Given the description of an element on the screen output the (x, y) to click on. 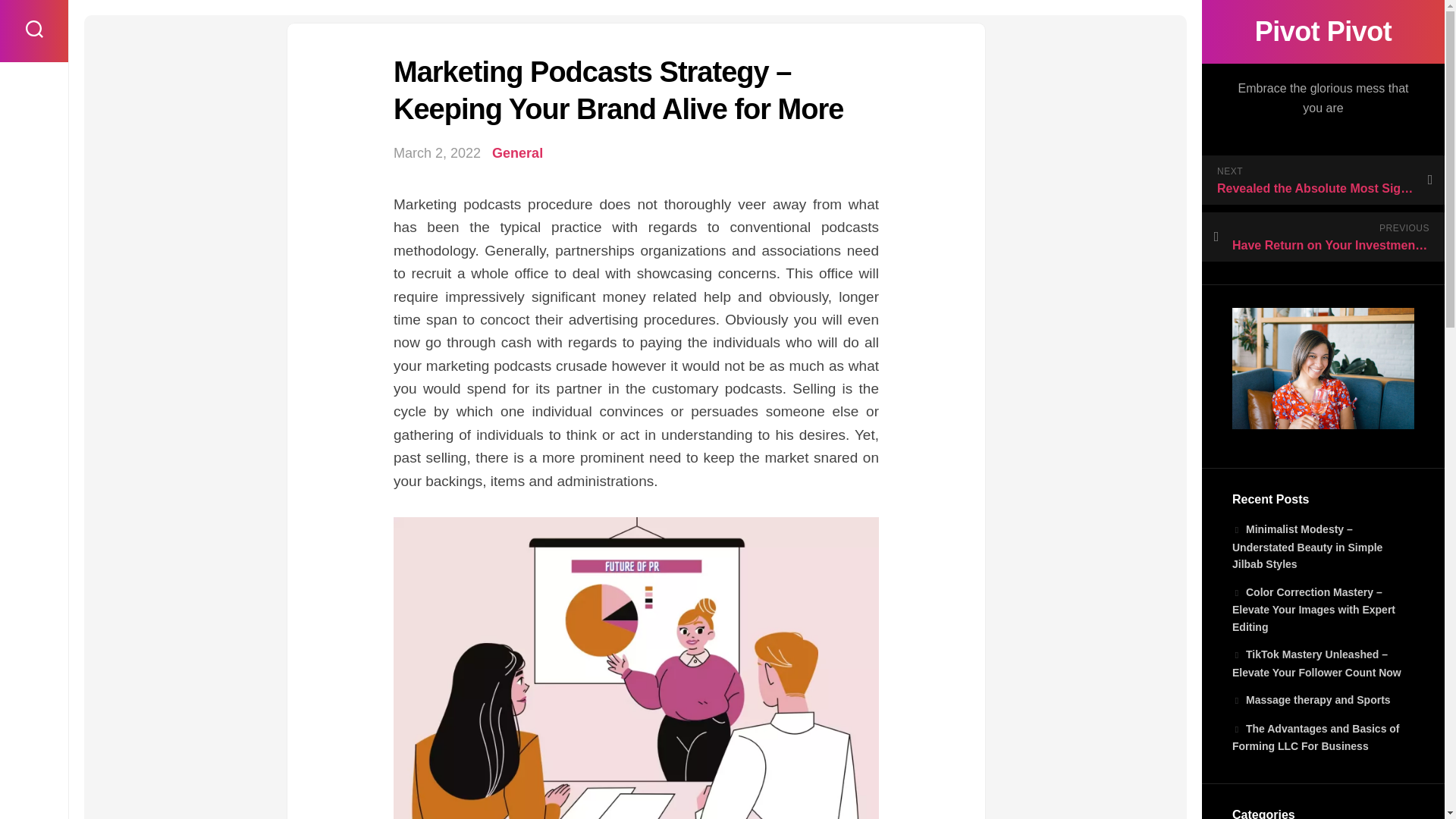
Pivot Pivot (1322, 31)
The Advantages and Basics of Forming LLC For Business (1315, 737)
General (517, 152)
Massage therapy and Sports (1310, 699)
